Given the description of an element on the screen output the (x, y) to click on. 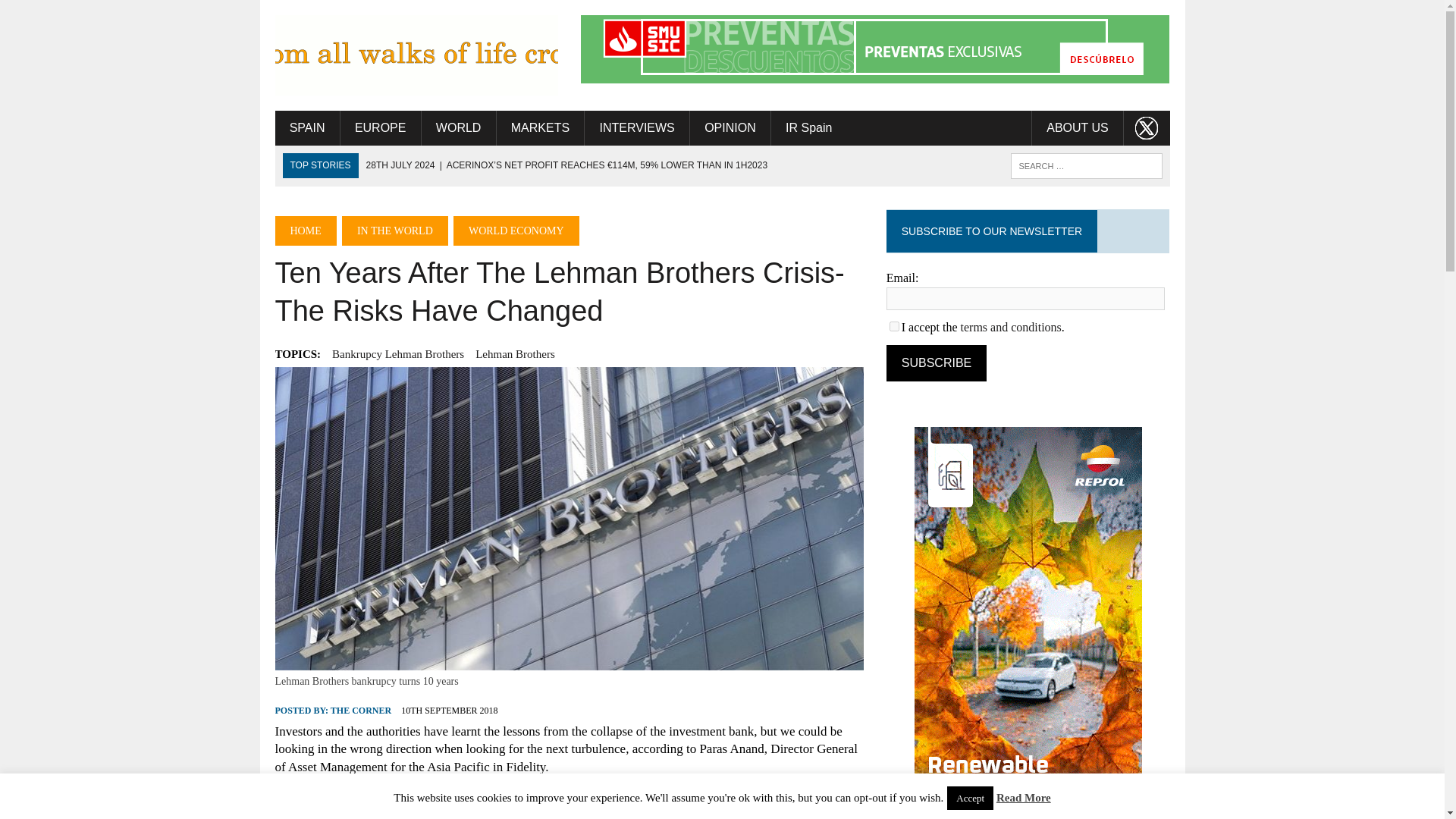
WORLD (459, 127)
The Corner (416, 55)
MARKETS (540, 127)
SPAIN (307, 127)
INTERVIEWS (636, 127)
advertisement (875, 49)
SUBSCRIBE (936, 362)
EUROPE (380, 127)
1 (894, 326)
